Given the description of an element on the screen output the (x, y) to click on. 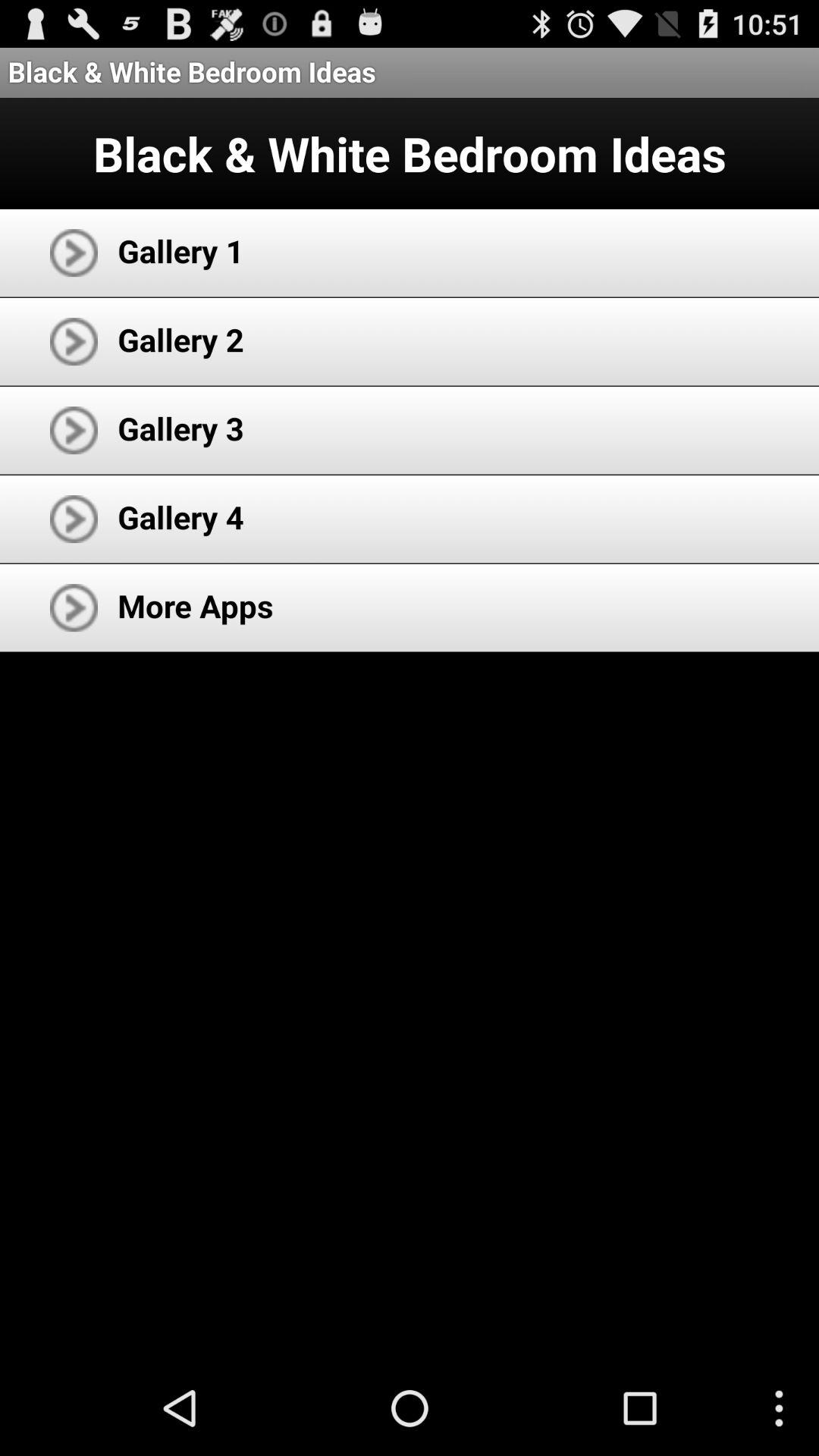
swipe until the gallery 4 (180, 516)
